Given the description of an element on the screen output the (x, y) to click on. 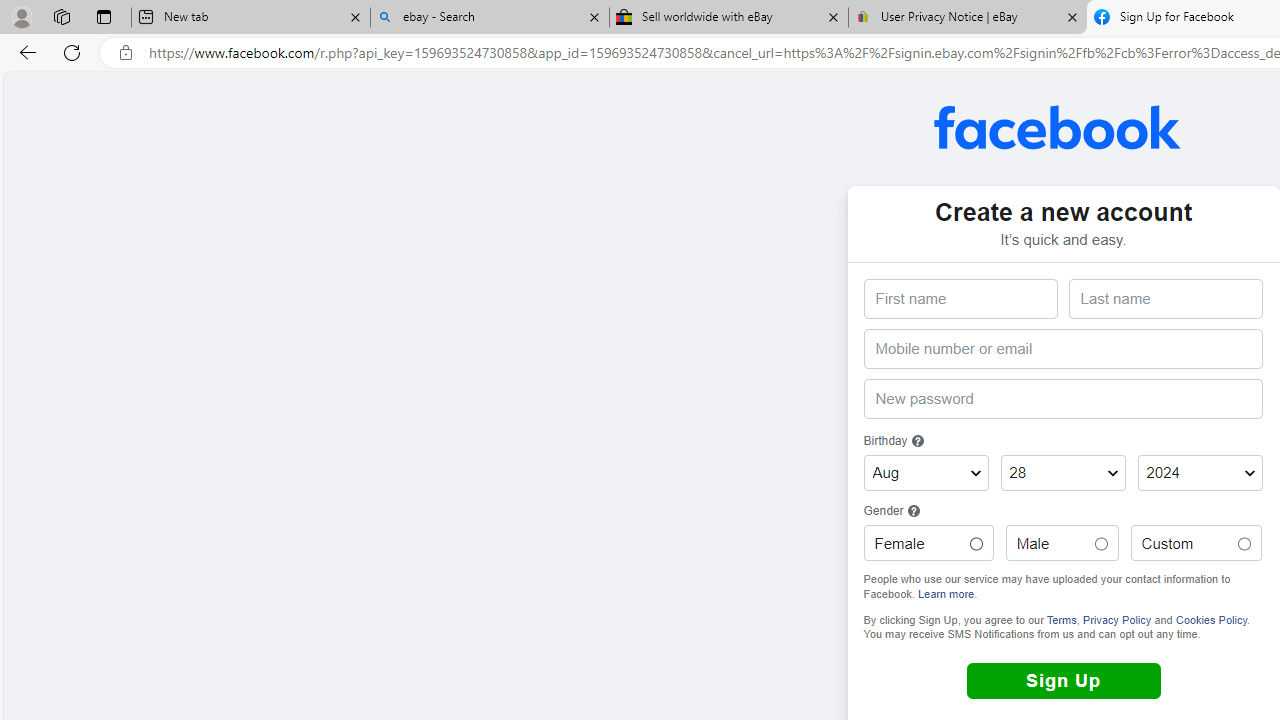
Terms (1060, 618)
Last name (1165, 299)
New password (1062, 398)
Learn more (945, 592)
Month (925, 473)
Mobile number or email (1062, 349)
Privacy Policy (1116, 618)
Click for more information (913, 511)
Female Male Custom (975, 544)
Cookies Policy (1211, 618)
Sign Up (1063, 681)
AutomationID: sex (1244, 544)
